Given the description of an element on the screen output the (x, y) to click on. 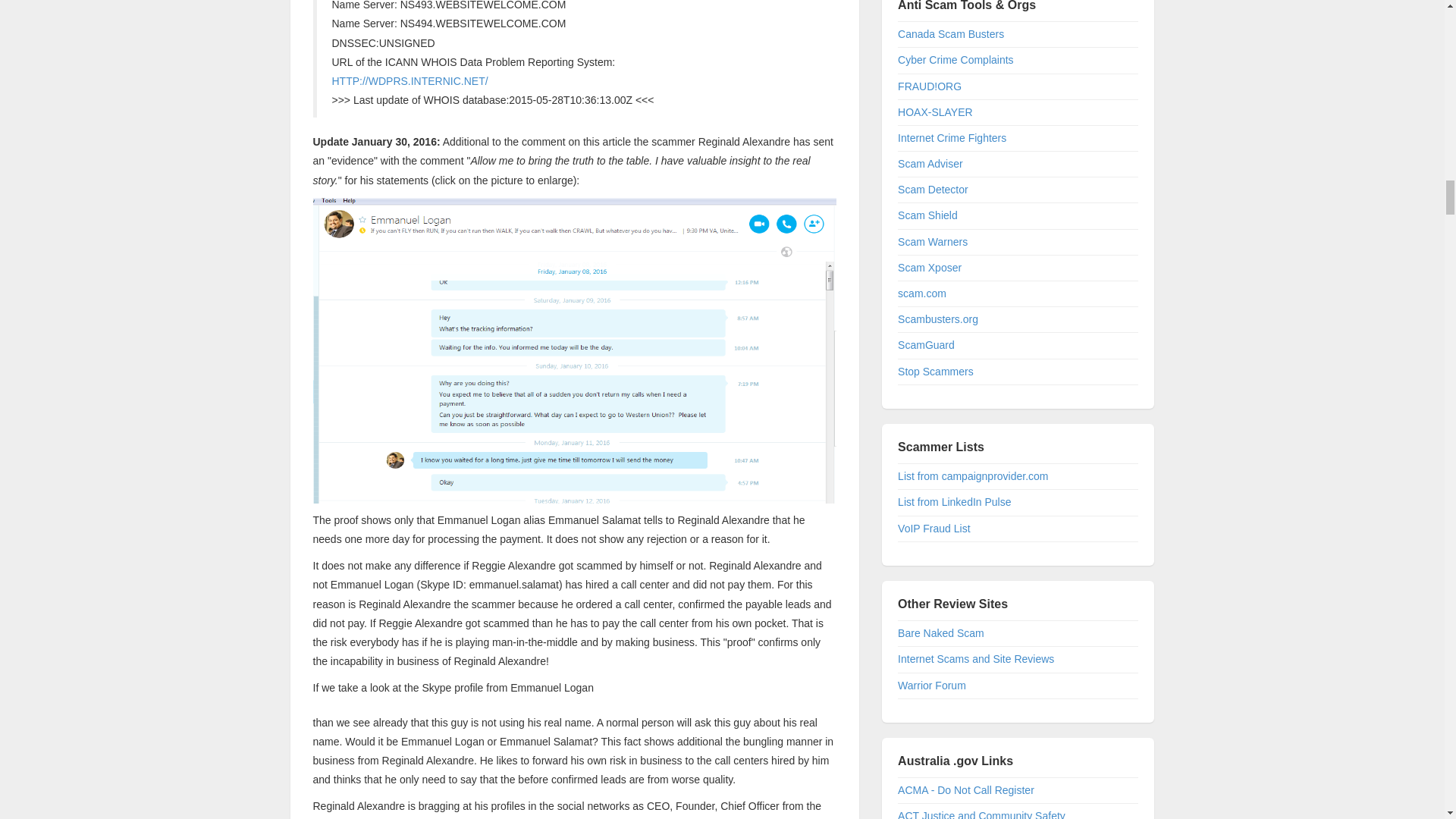
One scammer is scamming the other one (574, 349)
